Given the description of an element on the screen output the (x, y) to click on. 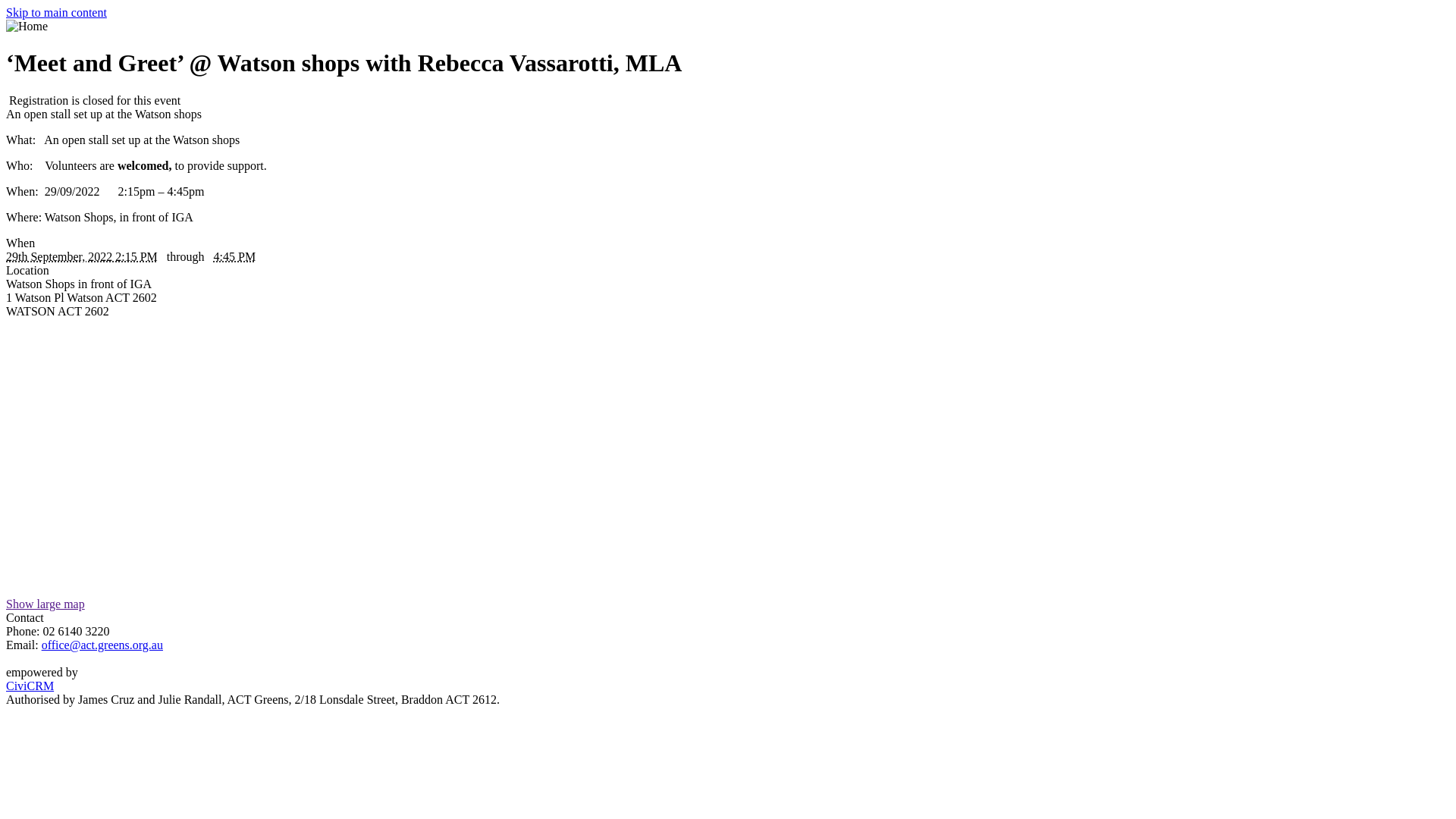
CiviCRM Element type: text (727, 692)
Show large map Element type: text (45, 603)
Skip to main content Element type: text (56, 12)
office@act.greens.org.au Element type: text (102, 644)
